Given the description of an element on the screen output the (x, y) to click on. 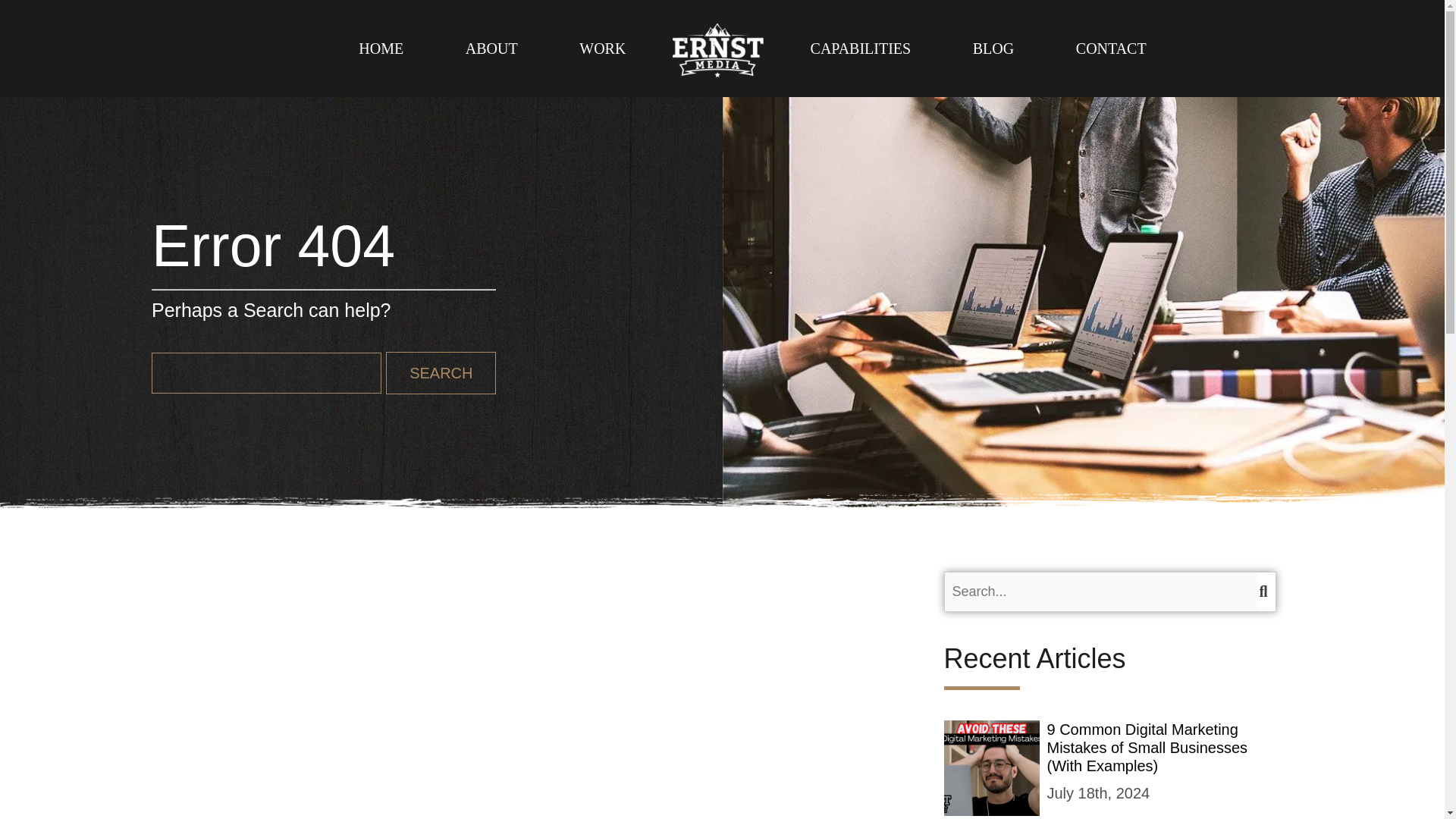
BLOG (992, 48)
WORK (602, 48)
ABOUT (491, 48)
CAPABILITIES (860, 48)
Search (440, 372)
HOME (380, 48)
search (31, 11)
logo (717, 48)
CONTACT (1110, 48)
Search (440, 372)
